Given the description of an element on the screen output the (x, y) to click on. 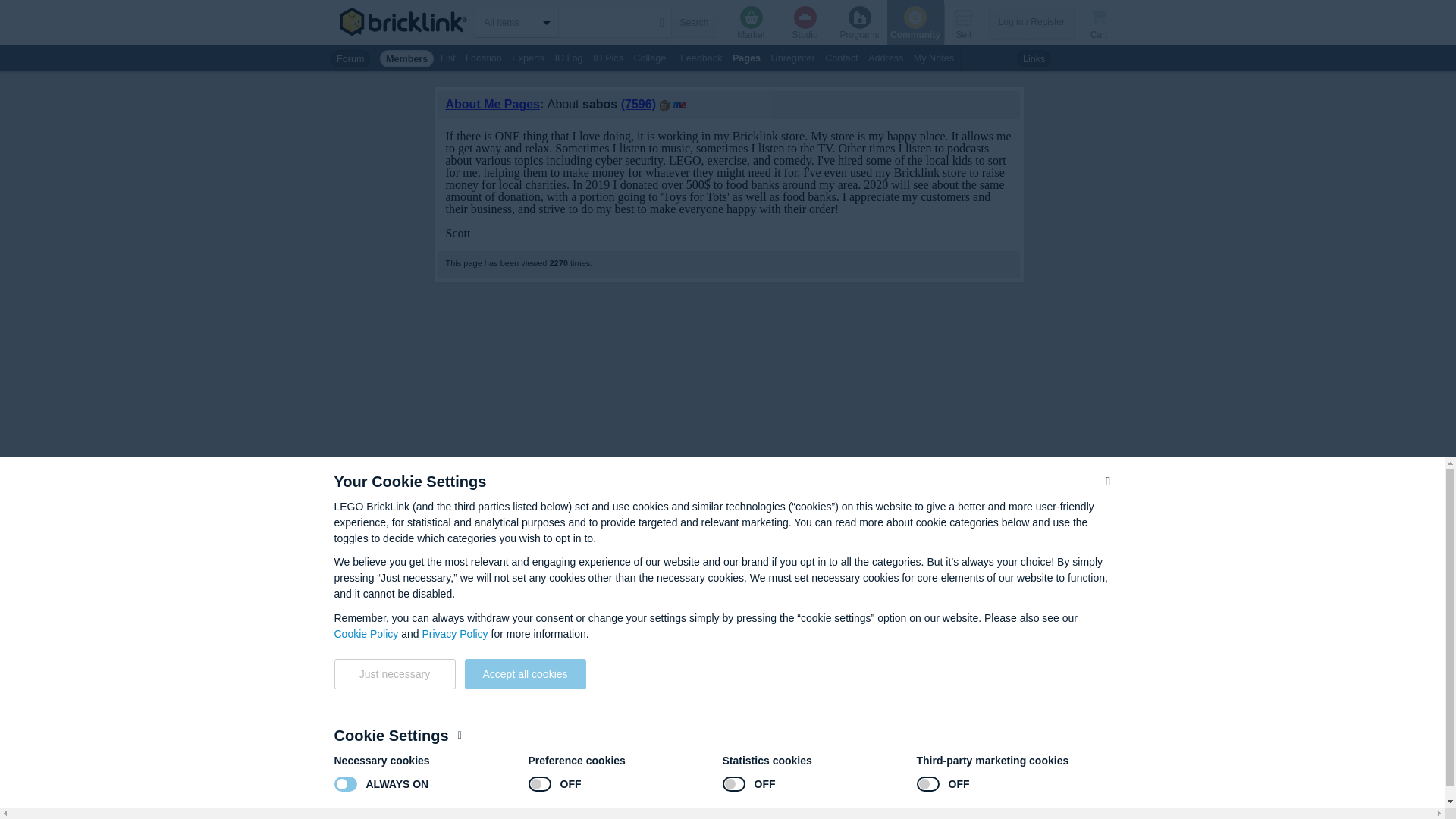
Studio (804, 22)
Search (693, 22)
Market (751, 22)
Programs (859, 22)
All Items (520, 22)
